Given the description of an element on the screen output the (x, y) to click on. 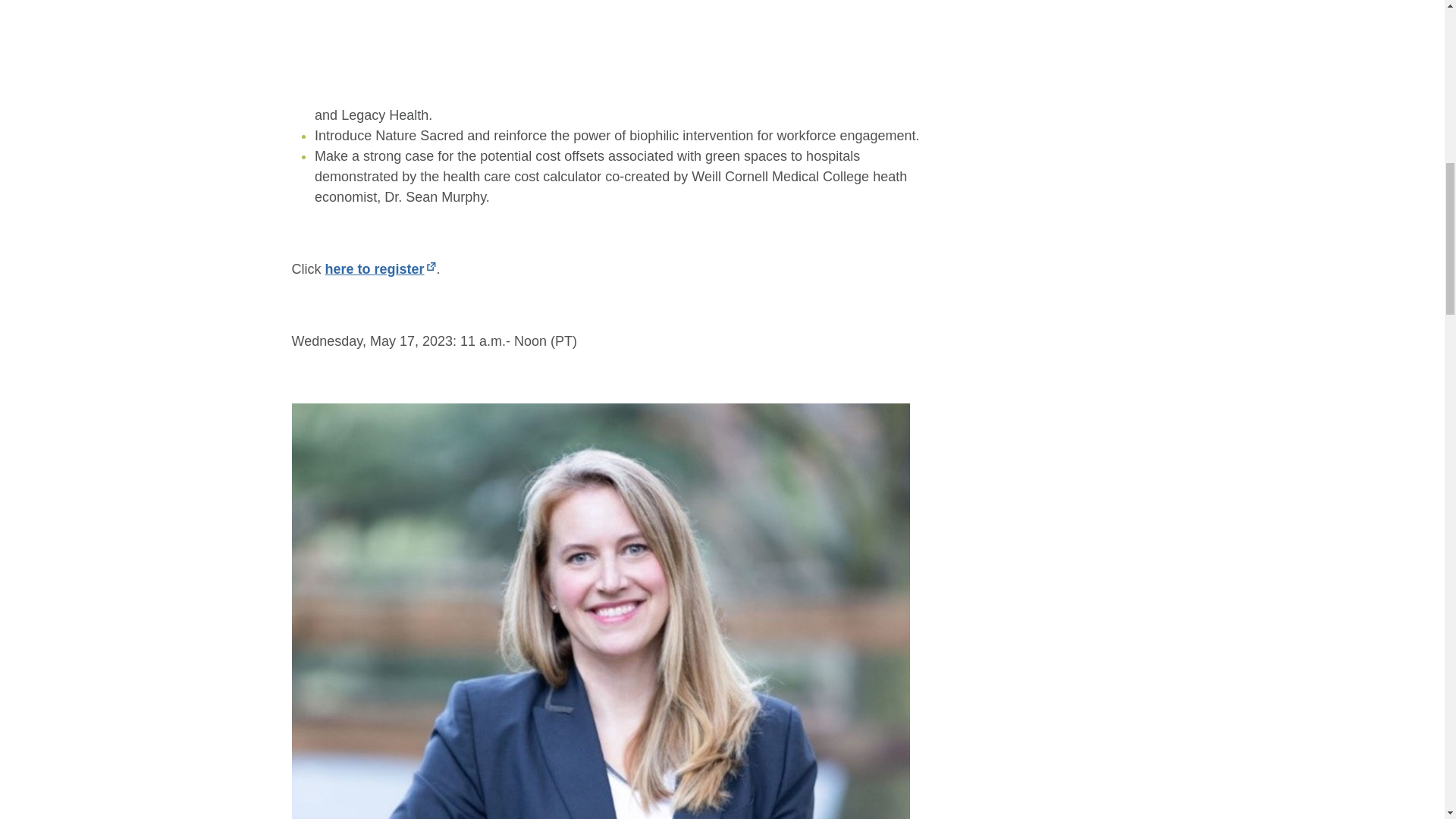
CE Notice (724, 2)
here to register (379, 268)
Date and Time (537, 2)
Objectives (334, 2)
Speakers (637, 2)
Registration (429, 2)
